Given the description of an element on the screen output the (x, y) to click on. 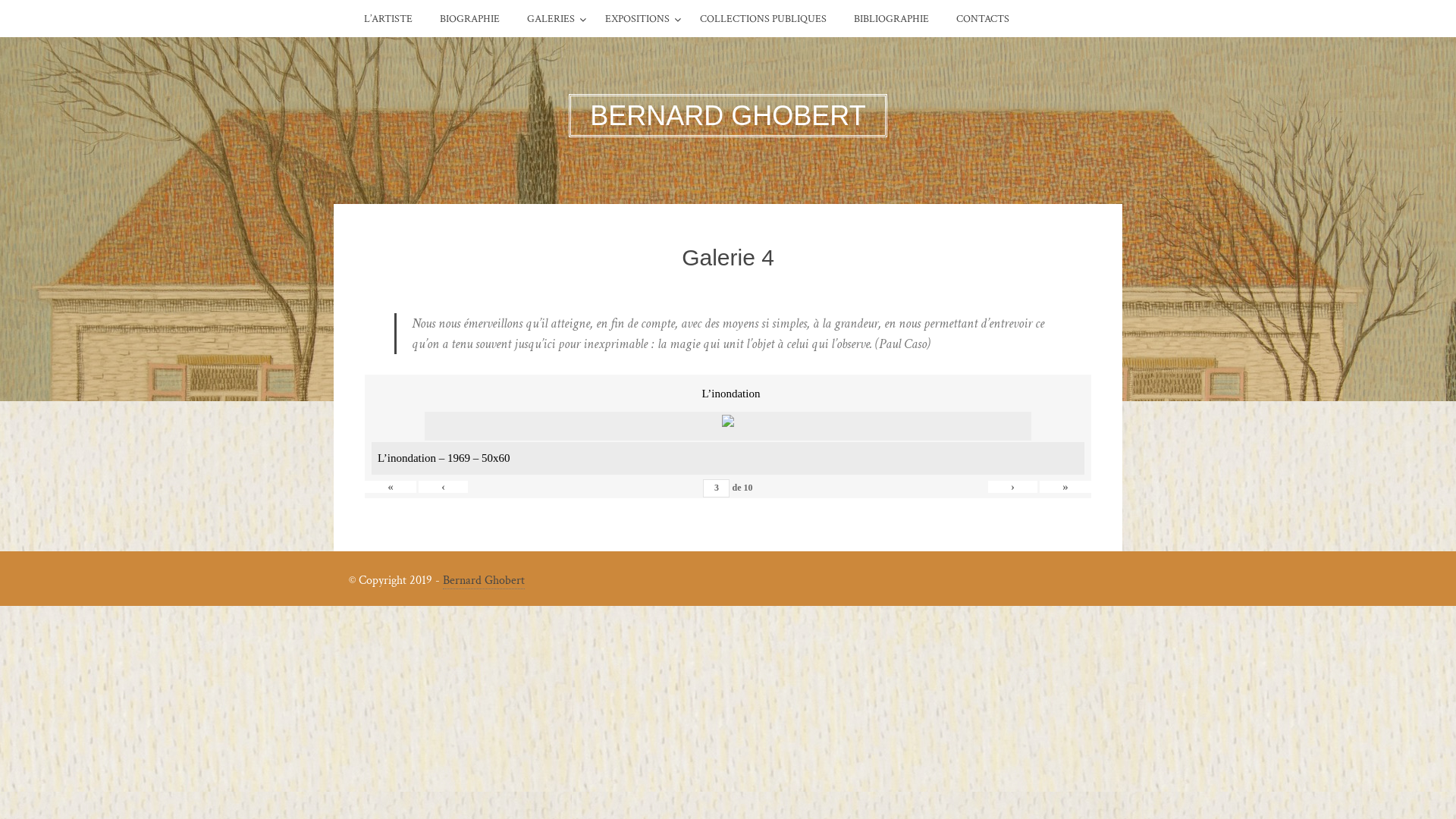
BERNARD GHOBERT Element type: text (727, 115)
BIBLIOGRAPHIE Element type: text (890, 19)
COLLECTIONS PUBLIQUES Element type: text (762, 19)
BIOGRAPHIE Element type: text (469, 19)
GALERIES Element type: text (550, 19)
CONTACTS Element type: text (982, 19)
Bernard Ghobert Element type: text (483, 579)
EXPOSITIONS Element type: text (637, 19)
